Given the description of an element on the screen output the (x, y) to click on. 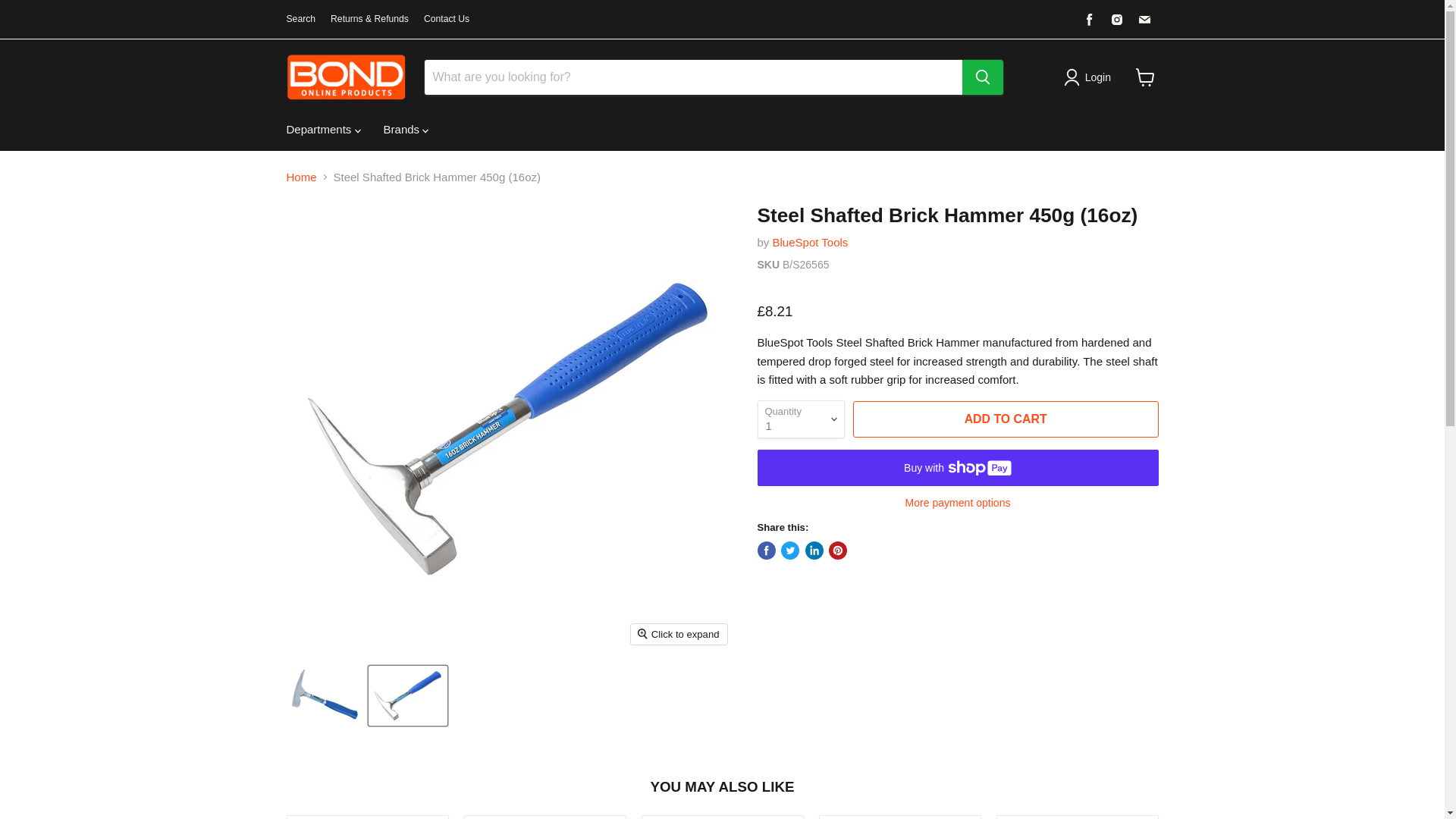
View cart (1144, 77)
Find us on Email (1144, 19)
Instagram (1116, 19)
Email (1144, 19)
Contact Us (445, 18)
Login (1097, 76)
Find us on Instagram (1116, 19)
Facebook (1089, 19)
Search (300, 18)
Find us on Facebook (1089, 19)
BlueSpot Tools (810, 241)
